Given the description of an element on the screen output the (x, y) to click on. 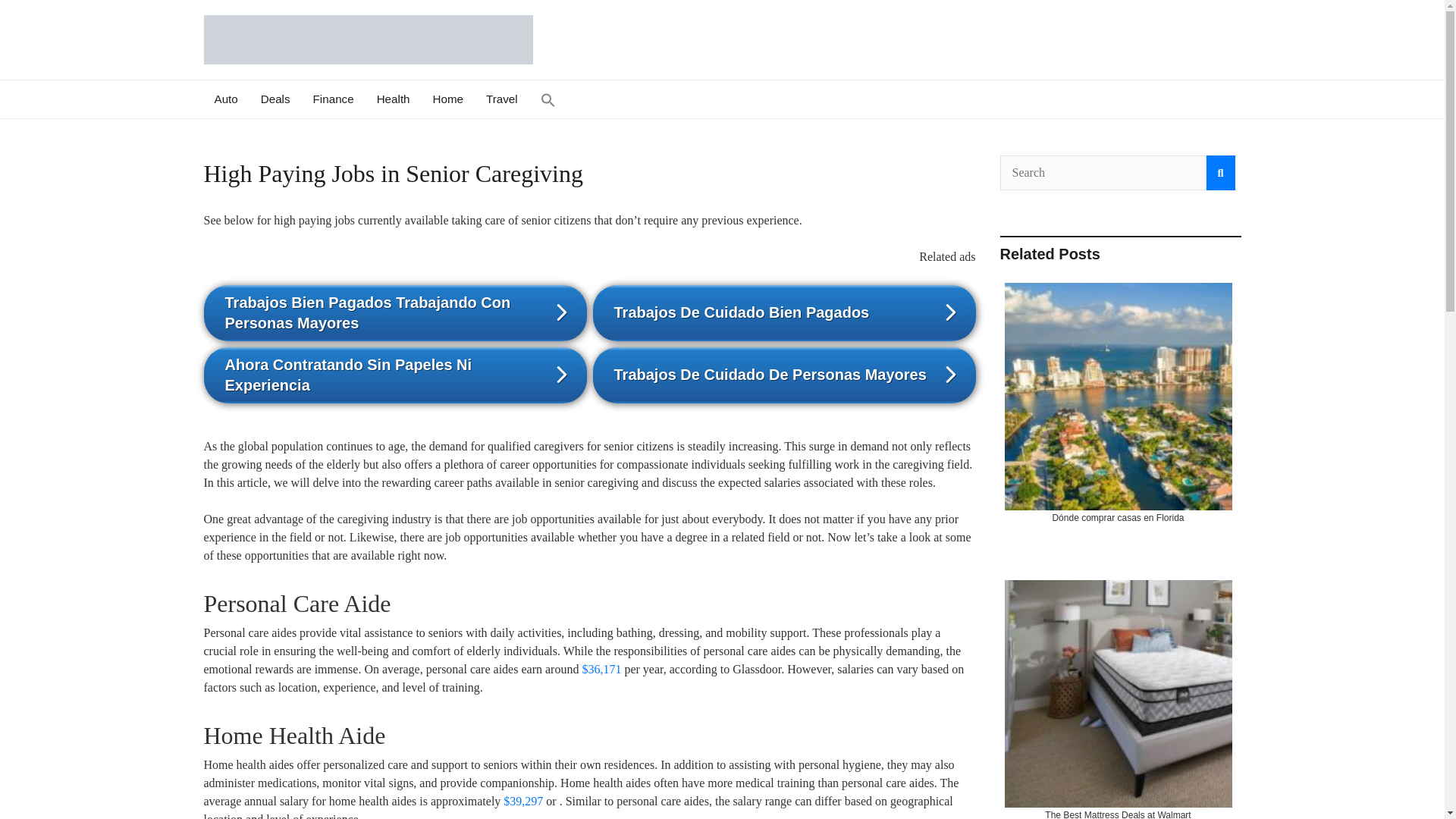
Health (393, 98)
Auto (225, 98)
Trabajos De Cuidado Bien Pagados (783, 313)
Finance (333, 98)
Ahora Contratando Sin Papeles Ni Experiencia (394, 375)
Trabajos De Cuidado De Personas Mayores (783, 375)
Home (449, 98)
Deals (274, 98)
Checkanswers.co (357, 86)
Trabajos Bien Pagados Trabajando Con Personas Mayores (394, 313)
The Best Mattress Deals at Walmart (1117, 697)
Travel (501, 98)
